Given the description of an element on the screen output the (x, y) to click on. 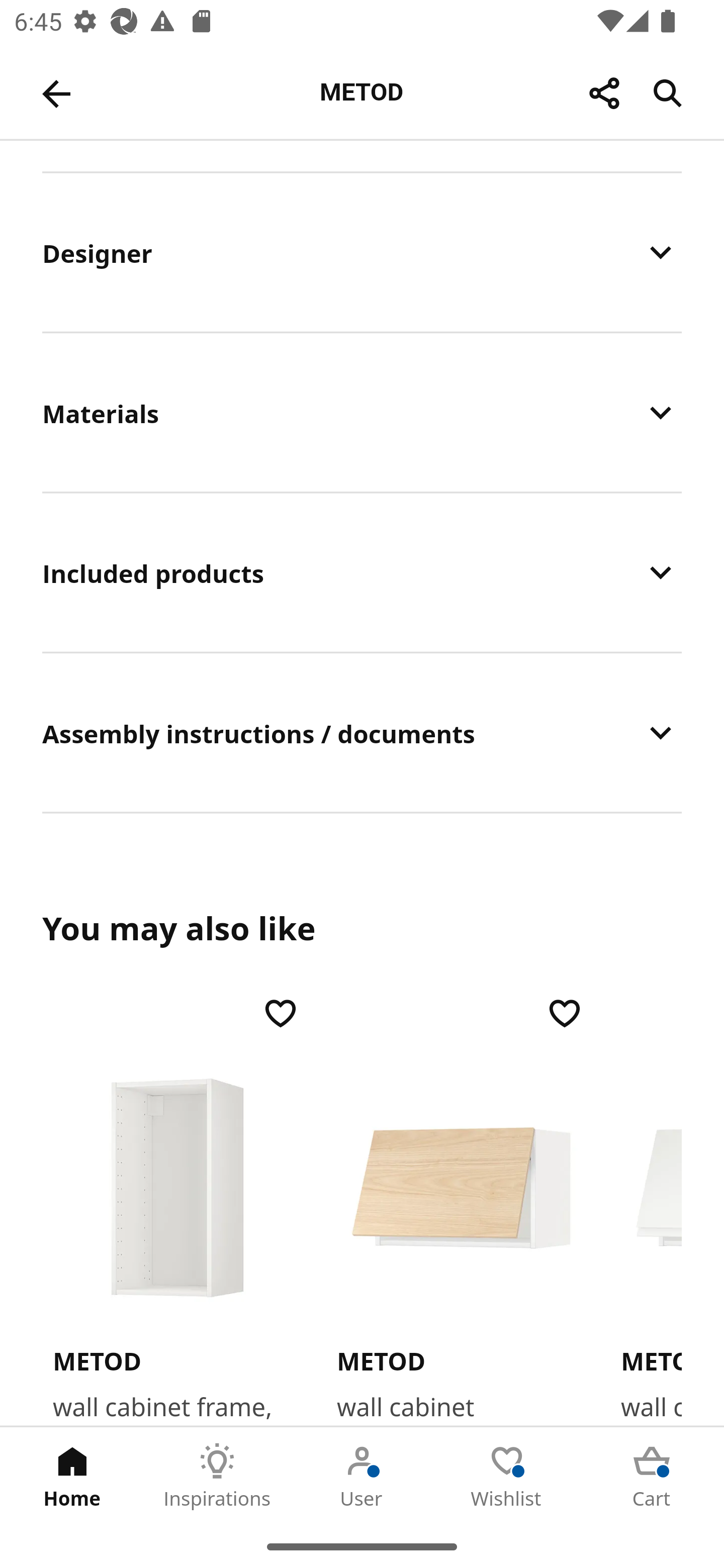
Designer (361, 252)
Materials (361, 412)
Included products (361, 572)
Assembly instructions / documents (361, 732)
Home
Tab 1 of 5 (72, 1476)
Inspirations
Tab 2 of 5 (216, 1476)
User
Tab 3 of 5 (361, 1476)
Wishlist
Tab 4 of 5 (506, 1476)
Cart
Tab 5 of 5 (651, 1476)
